Given the description of an element on the screen output the (x, y) to click on. 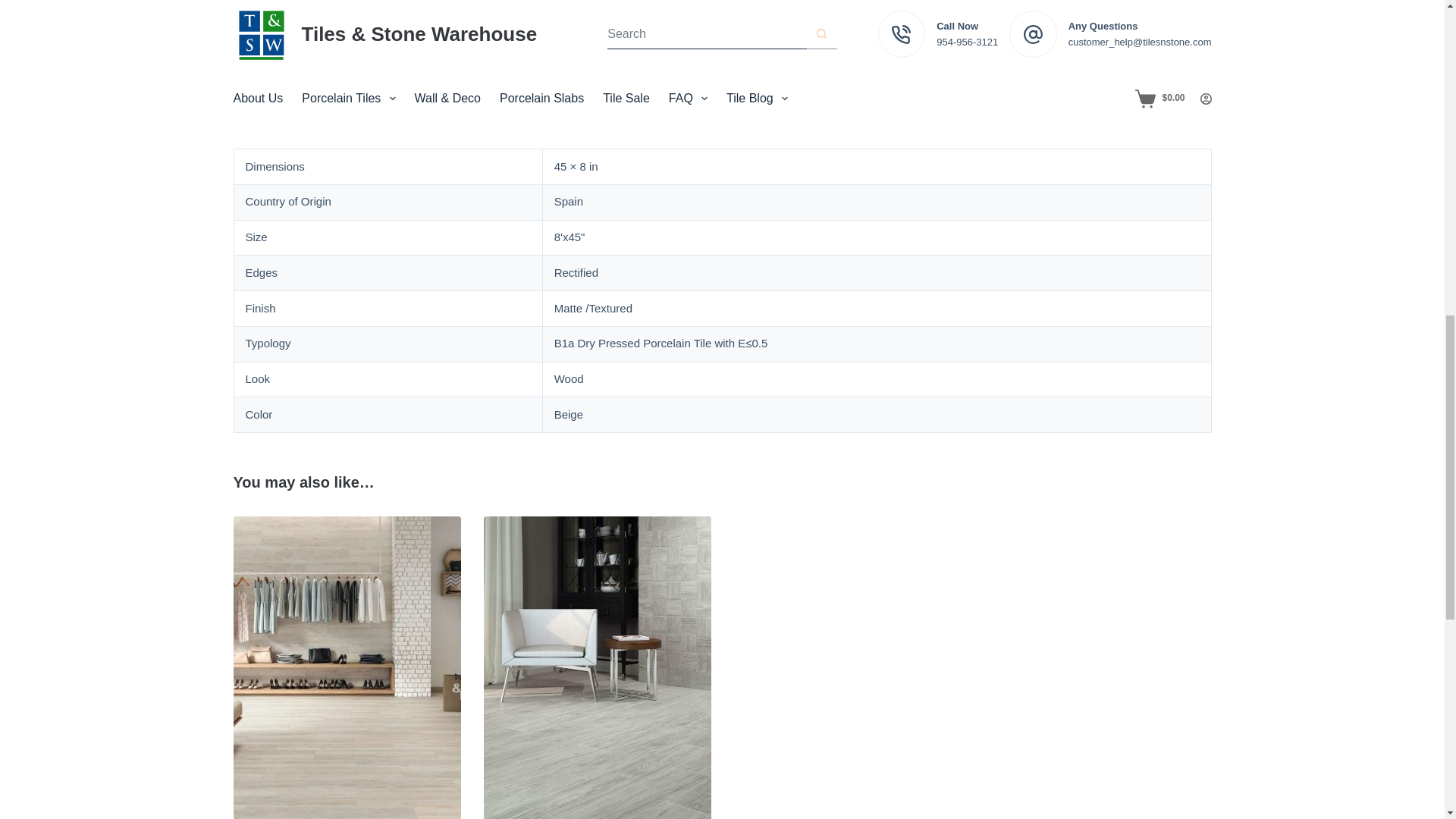
canada-teak (341, 19)
canada-teak-wood-look (265, 19)
